Given the description of an element on the screen output the (x, y) to click on. 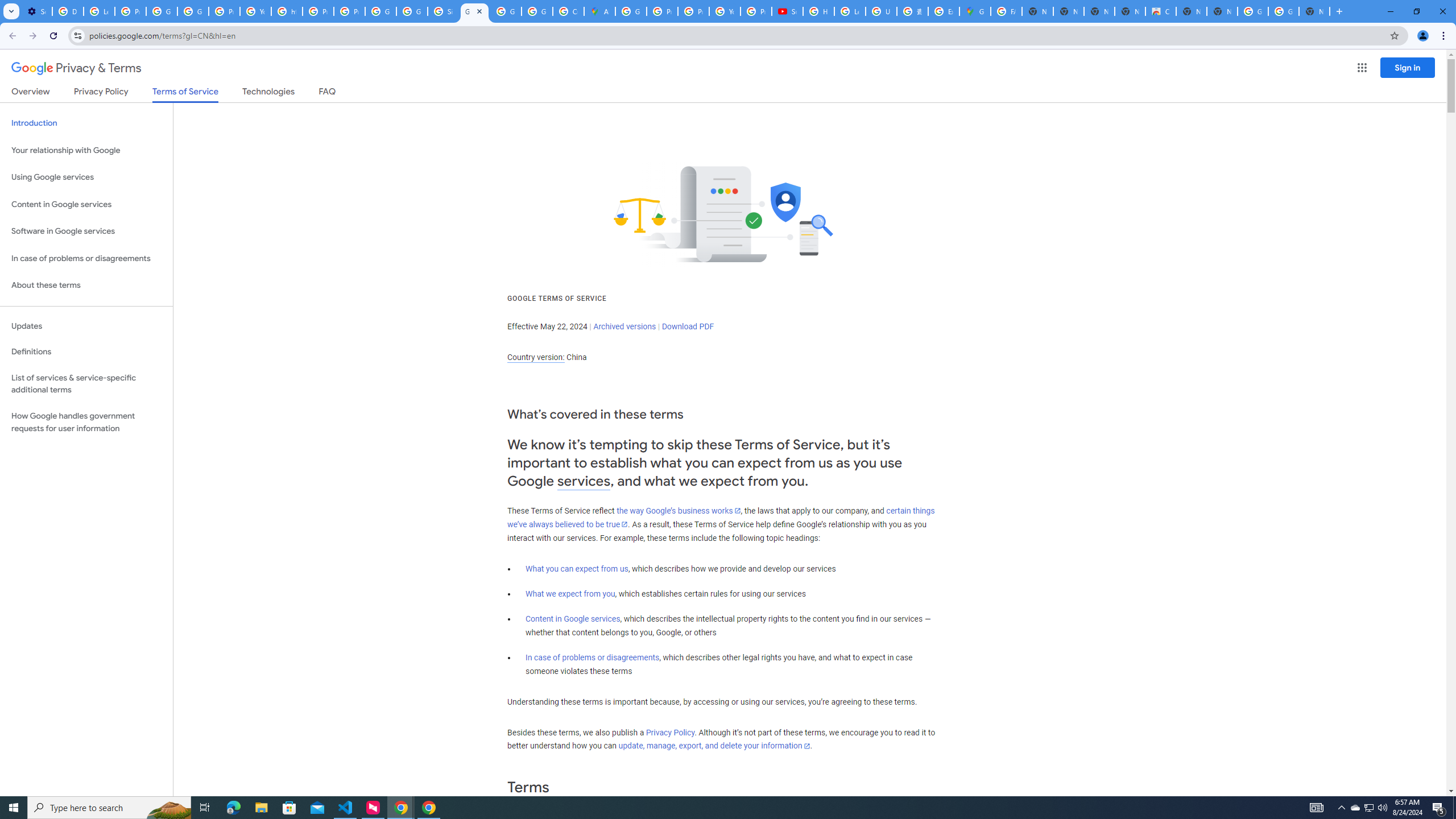
Privacy Help Center - Policies Help (693, 11)
Definitions (86, 352)
Learn how to find your photos - Google Photos Help (98, 11)
How Google handles government requests for user information (86, 422)
Introduction (86, 122)
